Given the description of an element on the screen output the (x, y) to click on. 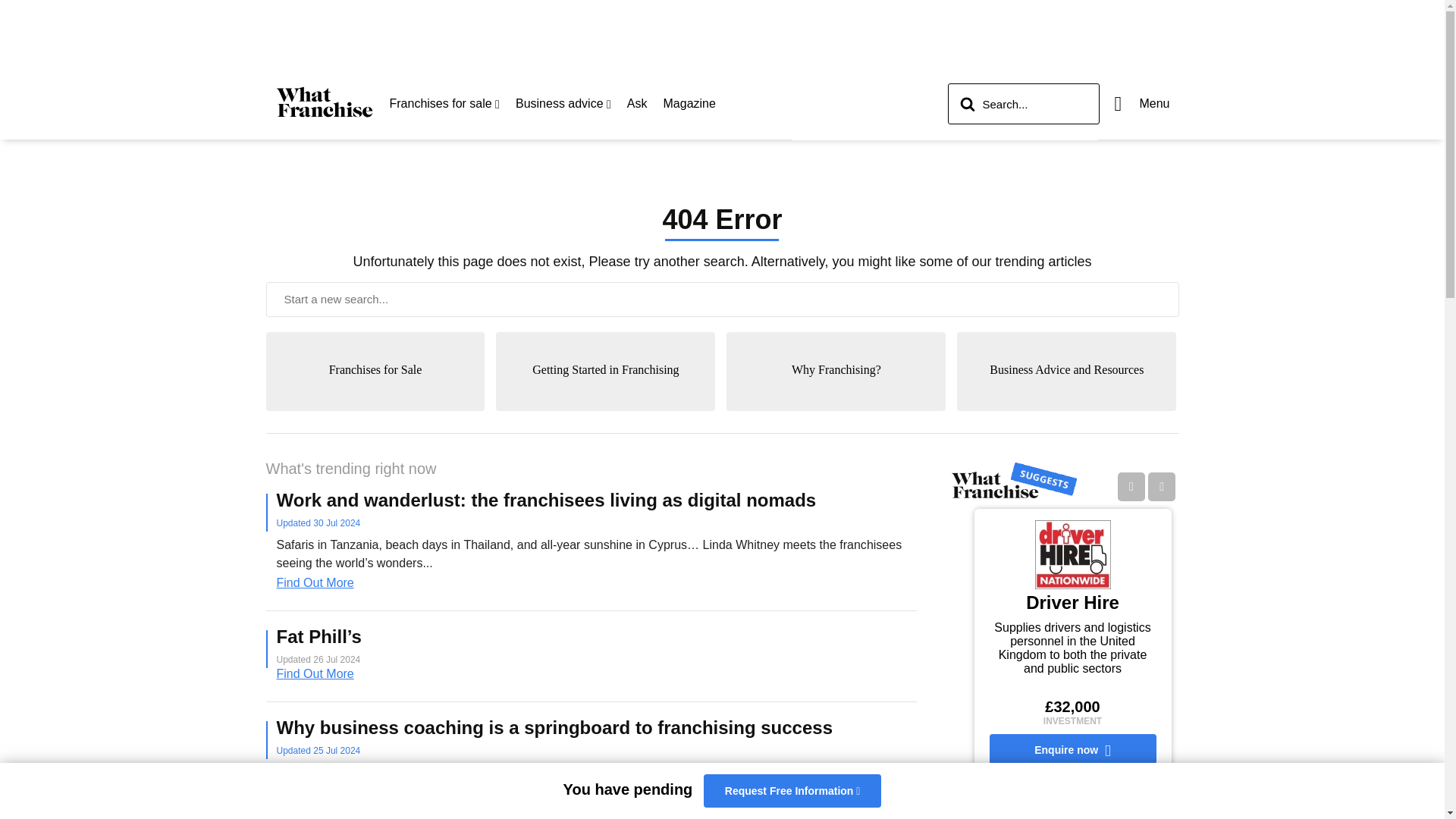
Business Advice and Resources (1066, 403)
Find Out More (595, 582)
Franchises for Sale (375, 403)
Getting Started in Franchising (605, 403)
Magazine (689, 103)
Ask (637, 103)
Business advice (563, 103)
What Franchise Suggests (1012, 480)
3rd party ad content (721, 33)
